Given the description of an element on the screen output the (x, y) to click on. 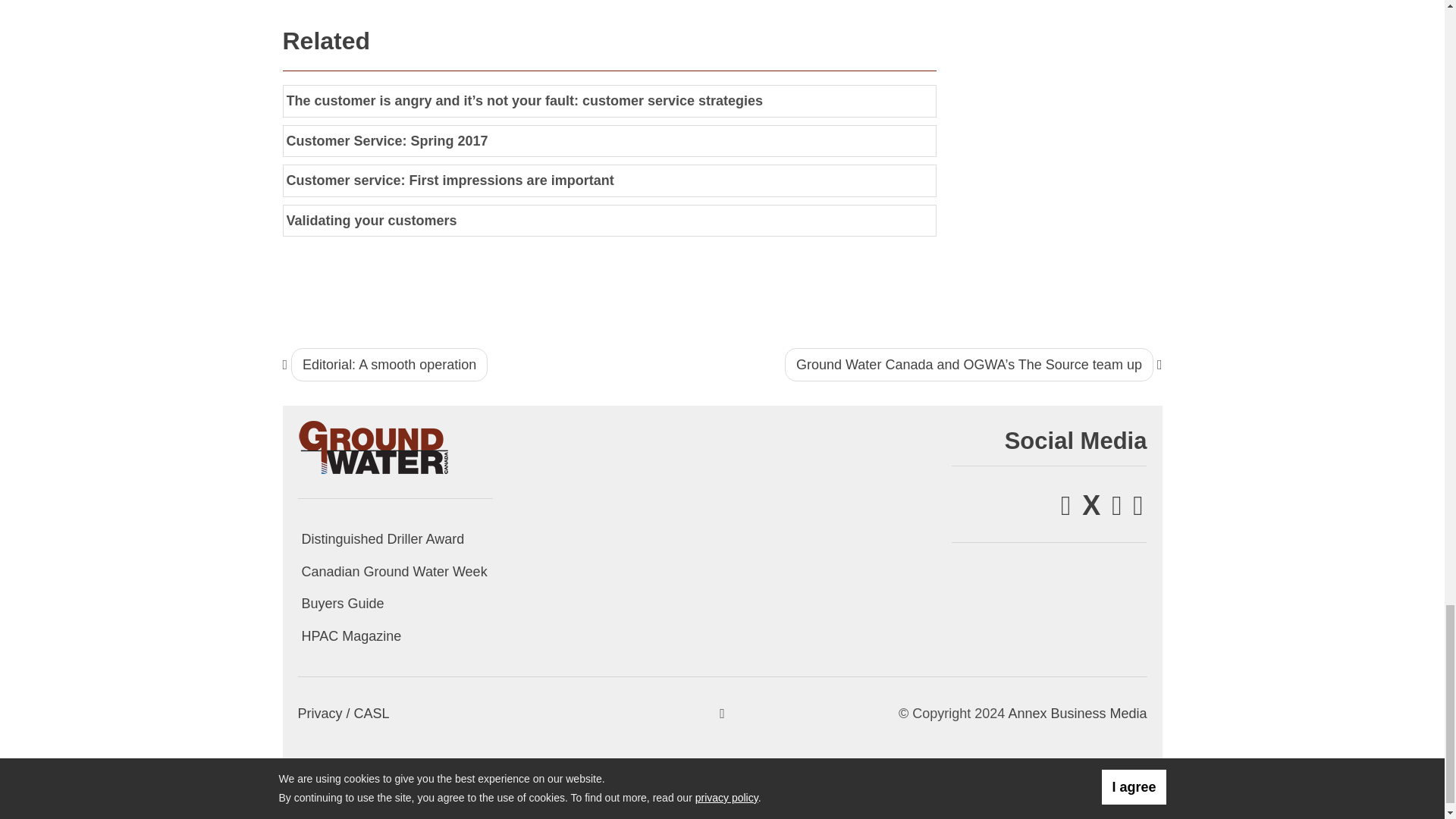
Ground Water Canada (373, 446)
Annex Business Media (1077, 713)
